Given the description of an element on the screen output the (x, y) to click on. 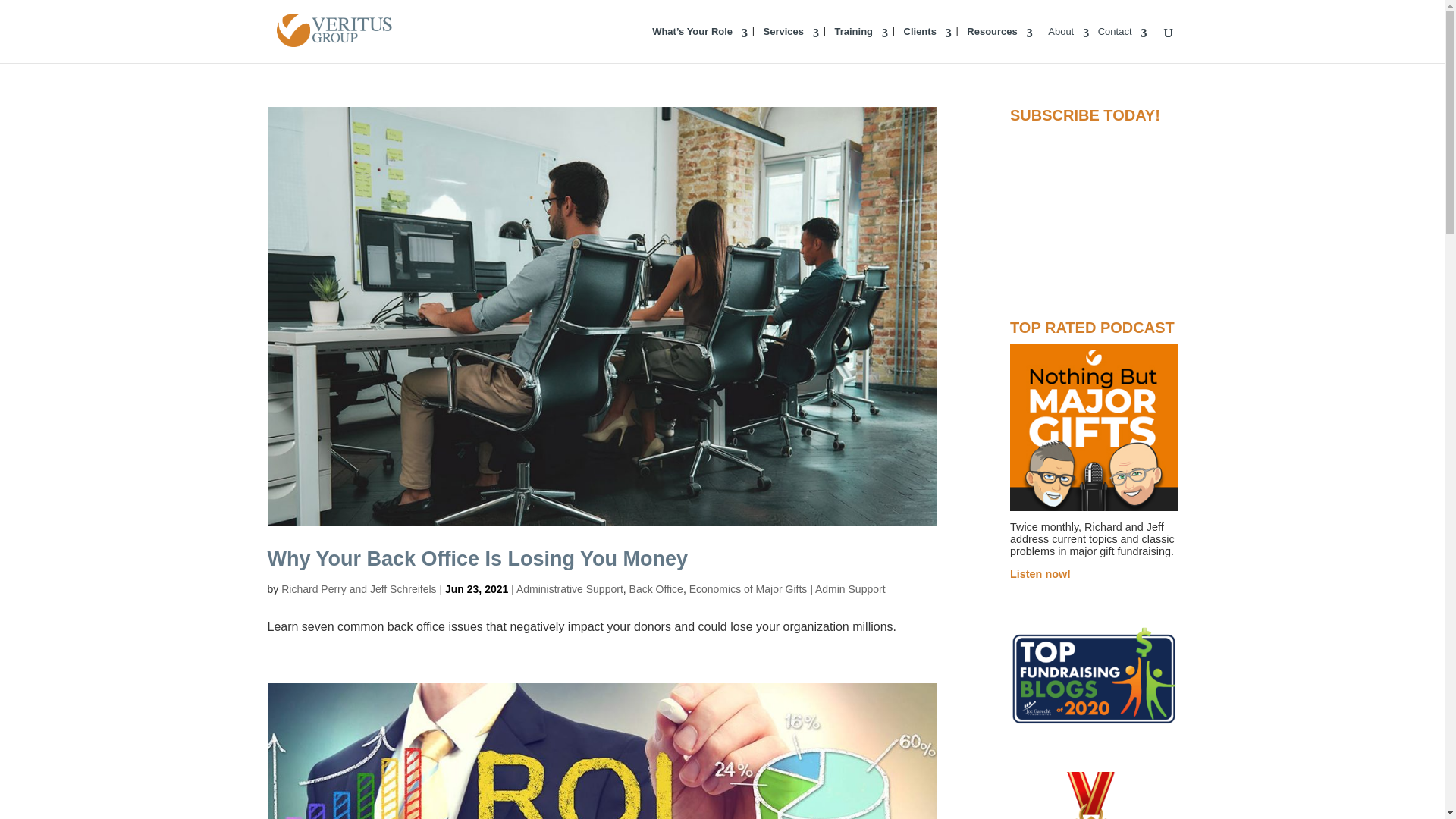
About (1068, 44)
Clients (928, 44)
Training (861, 44)
Services (790, 44)
Posts by Richard Perry and Jeff Schreifels (358, 589)
Contact (1122, 44)
Resources (999, 44)
